Given the description of an element on the screen output the (x, y) to click on. 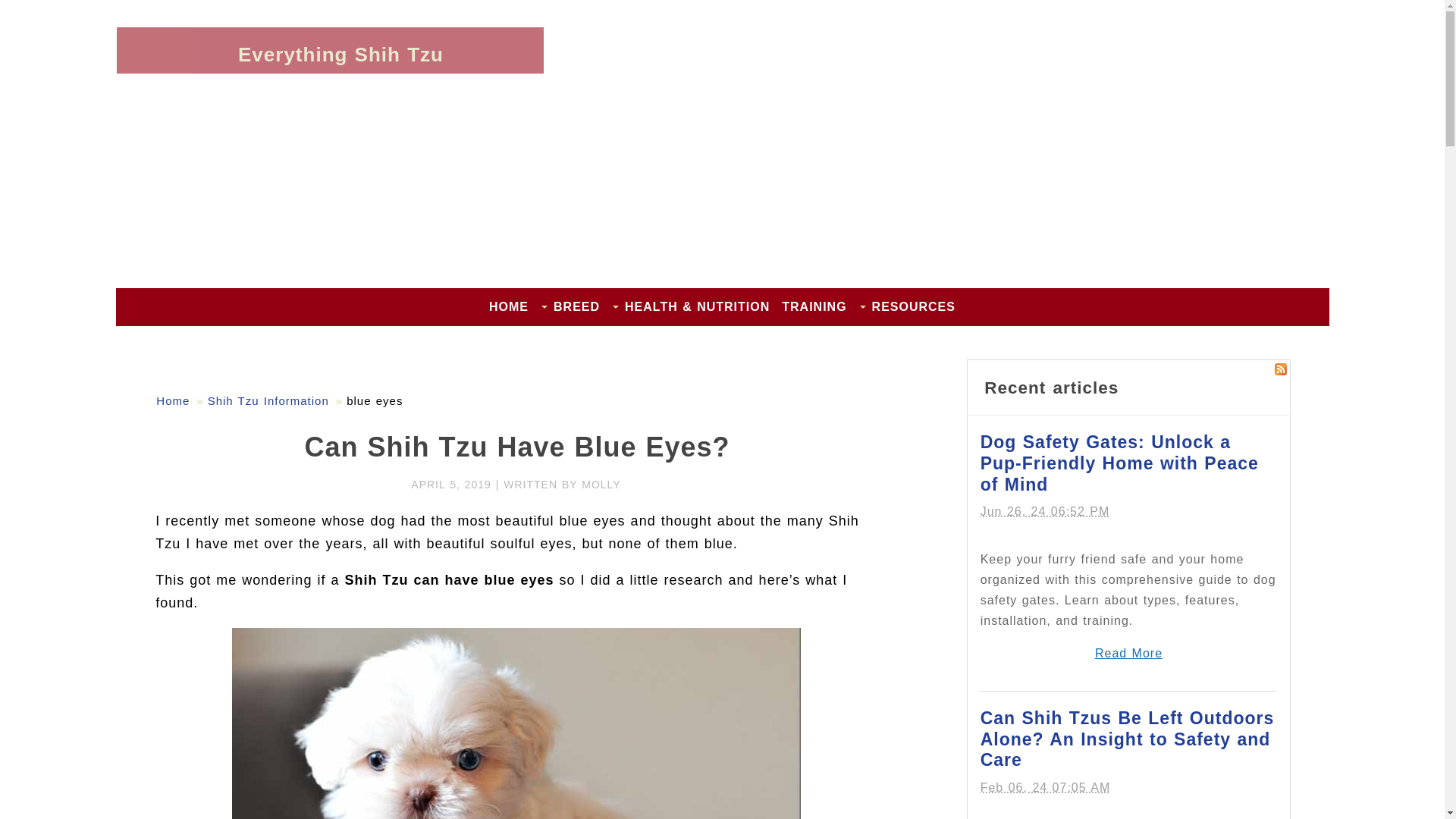
HOME (508, 306)
2024-02-06T07:05:30-0500 (1044, 787)
TRAINING (813, 306)
Everything Shih Tzu (341, 54)
2024-06-26T18:52:22-0400 (1044, 511)
Home (172, 400)
Shih Tzu Information (268, 400)
Blue-eyed Shih Tzu puppy (515, 723)
Recent articles (1051, 387)
